Given the description of an element on the screen output the (x, y) to click on. 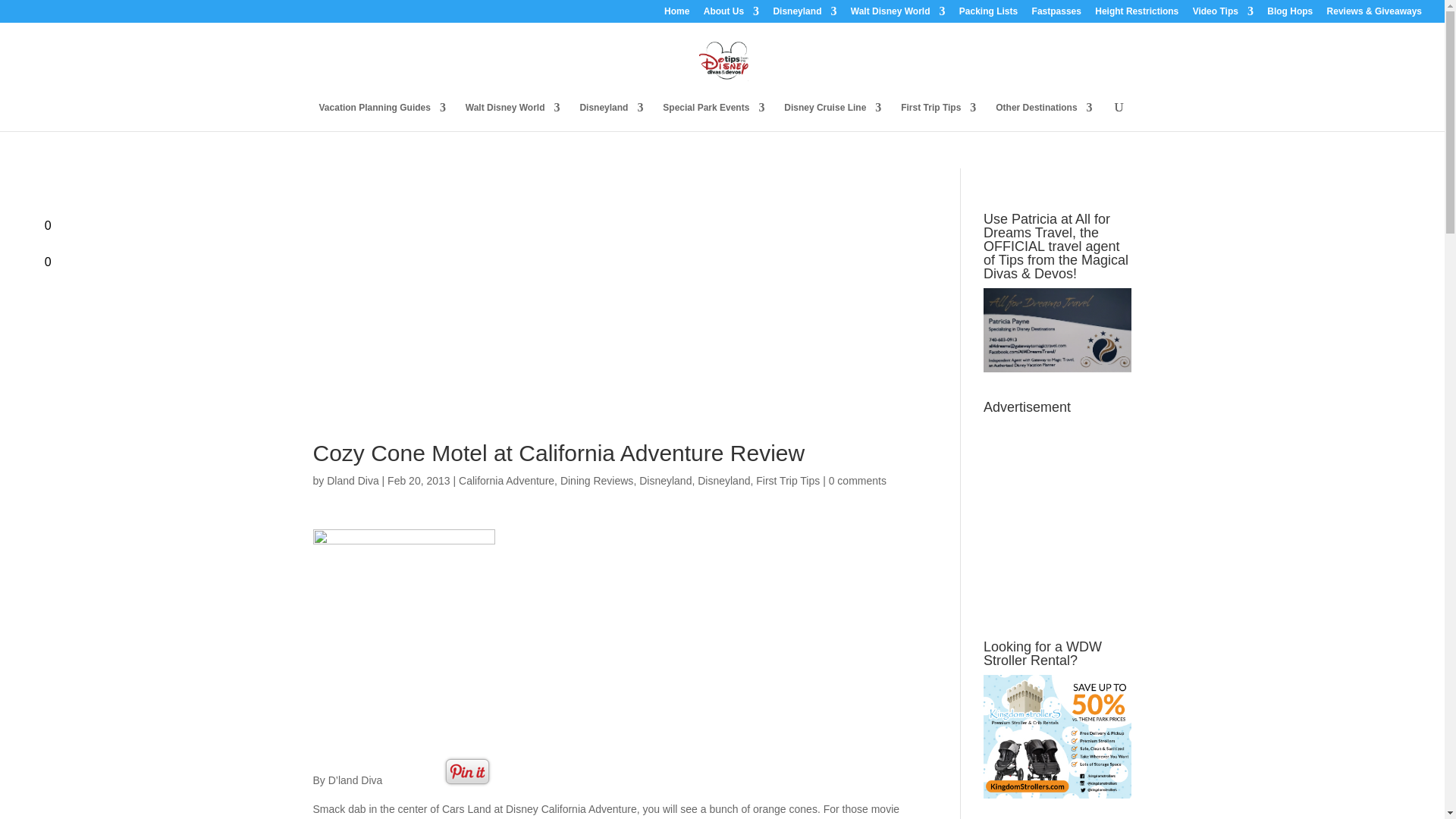
Posts by Dland Diva (352, 480)
Disneyland (804, 14)
Advertisement (614, 318)
0 (18, 258)
Packing Lists (988, 14)
Video Tips (1222, 14)
Fastpasses (1056, 14)
0 (18, 222)
Home (675, 14)
Height Restrictions (1135, 14)
Walt Disney World (897, 14)
About Us (730, 14)
Vacation Planning Guides (381, 116)
Blog Hops (1289, 14)
